Given the description of an element on the screen output the (x, y) to click on. 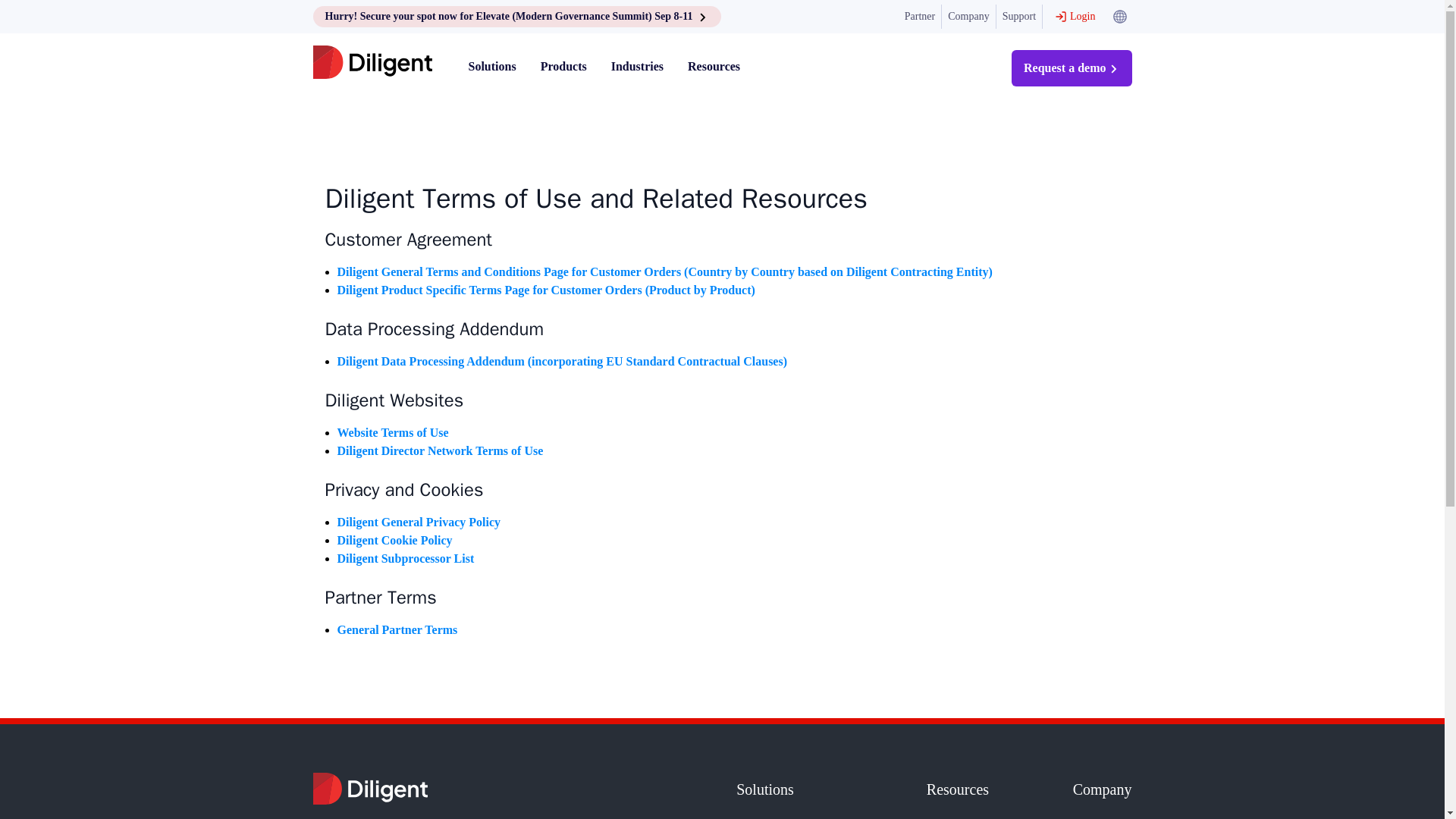
General Partner Terms (396, 629)
Resources (975, 789)
About Us (1102, 818)
Diligent Subprocessor List (405, 558)
Company (968, 16)
Support (1018, 16)
Login (1074, 16)
Request a demo (1071, 67)
Website Terms of Use (392, 431)
Company (1102, 789)
Diligent General Privacy Policy (418, 521)
Diligent Cookie Policy (393, 540)
Solutions (806, 789)
